Given the description of an element on the screen output the (x, y) to click on. 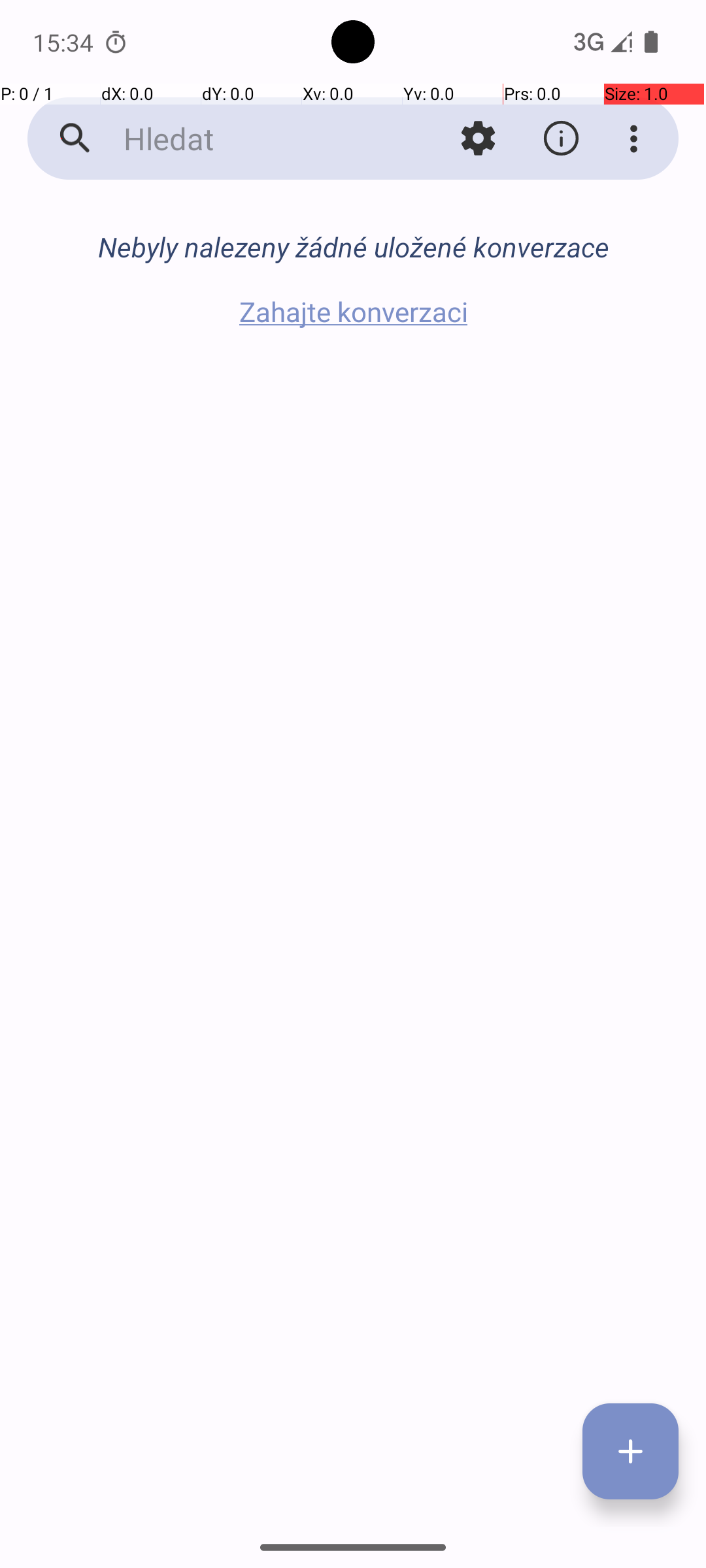
O aplikaci Element type: android.widget.Button (560, 138)
Nebyly nalezeny žádné uložené konverzace Element type: android.widget.TextView (353, 246)
Zahajte konverzaci Element type: android.widget.TextView (352, 311)
